Given the description of an element on the screen output the (x, y) to click on. 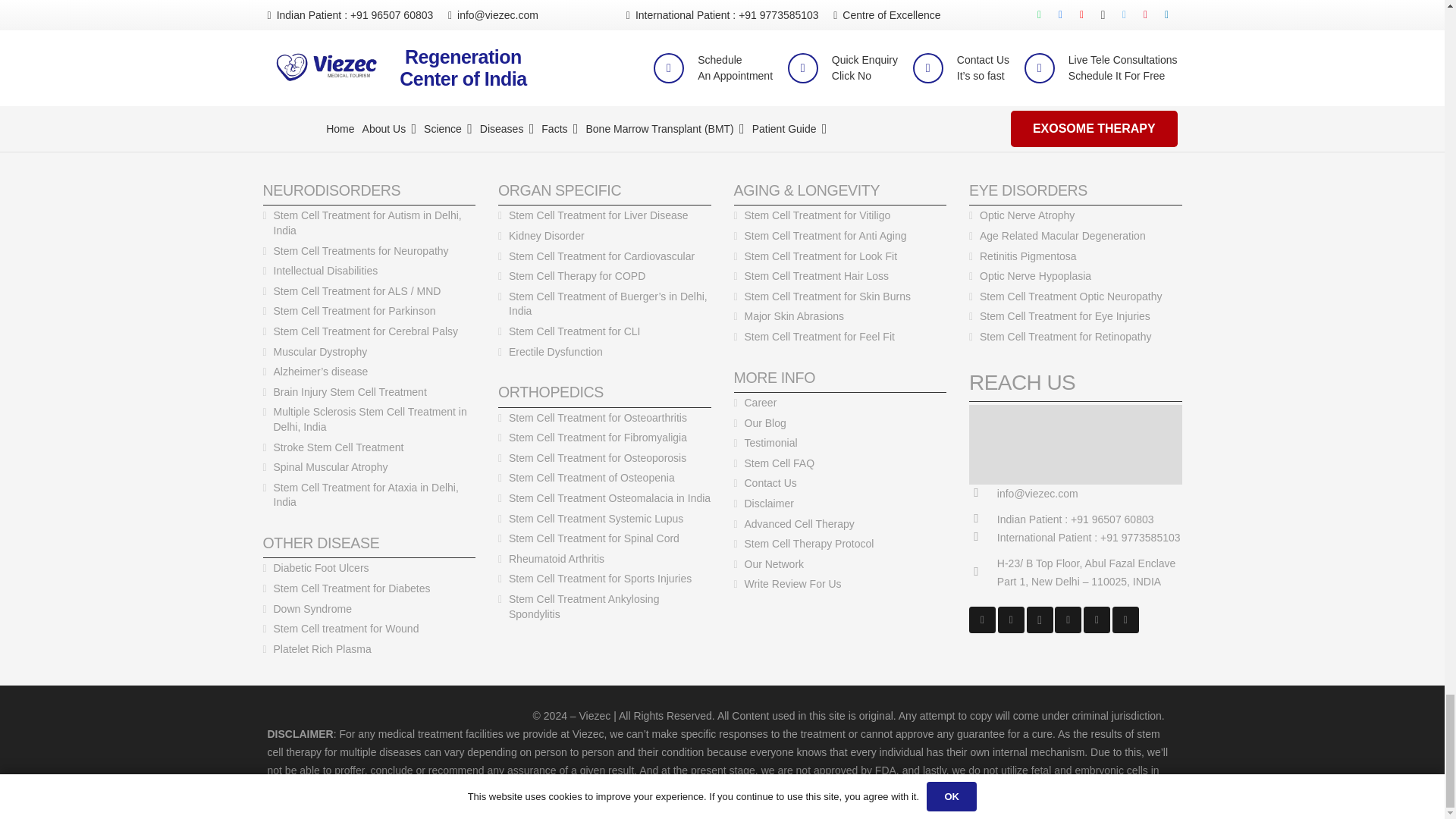
Stem Cell Treatment for Orthopedic (550, 392)
Stem Cell Treatment of Neurodisorder in India (331, 190)
Organ Specific Stem Cell Treatment in India (559, 190)
